Given the description of an element on the screen output the (x, y) to click on. 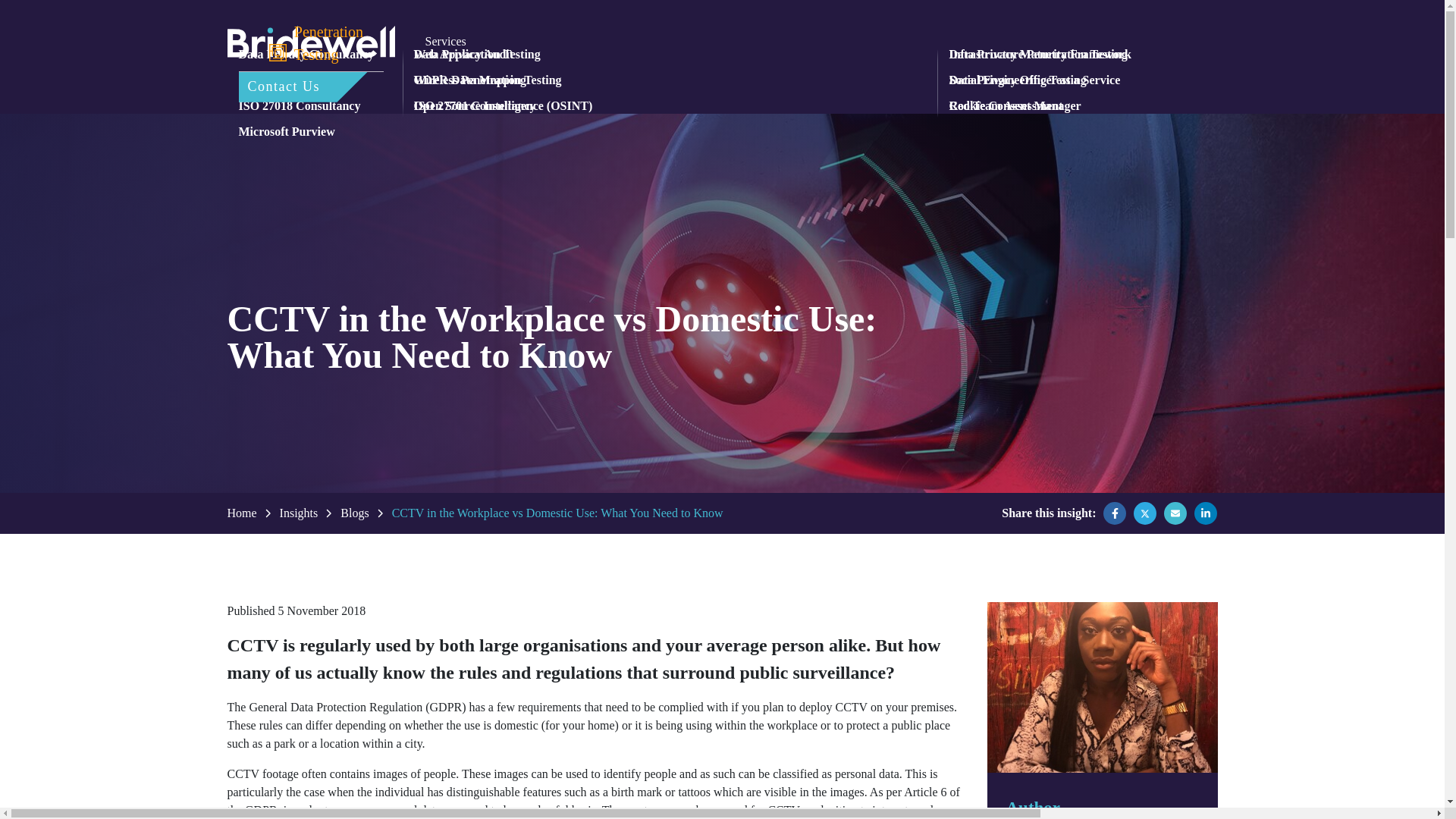
Services (445, 41)
Khadijat-Mansaray (1102, 687)
